Given the description of an element on the screen output the (x, y) to click on. 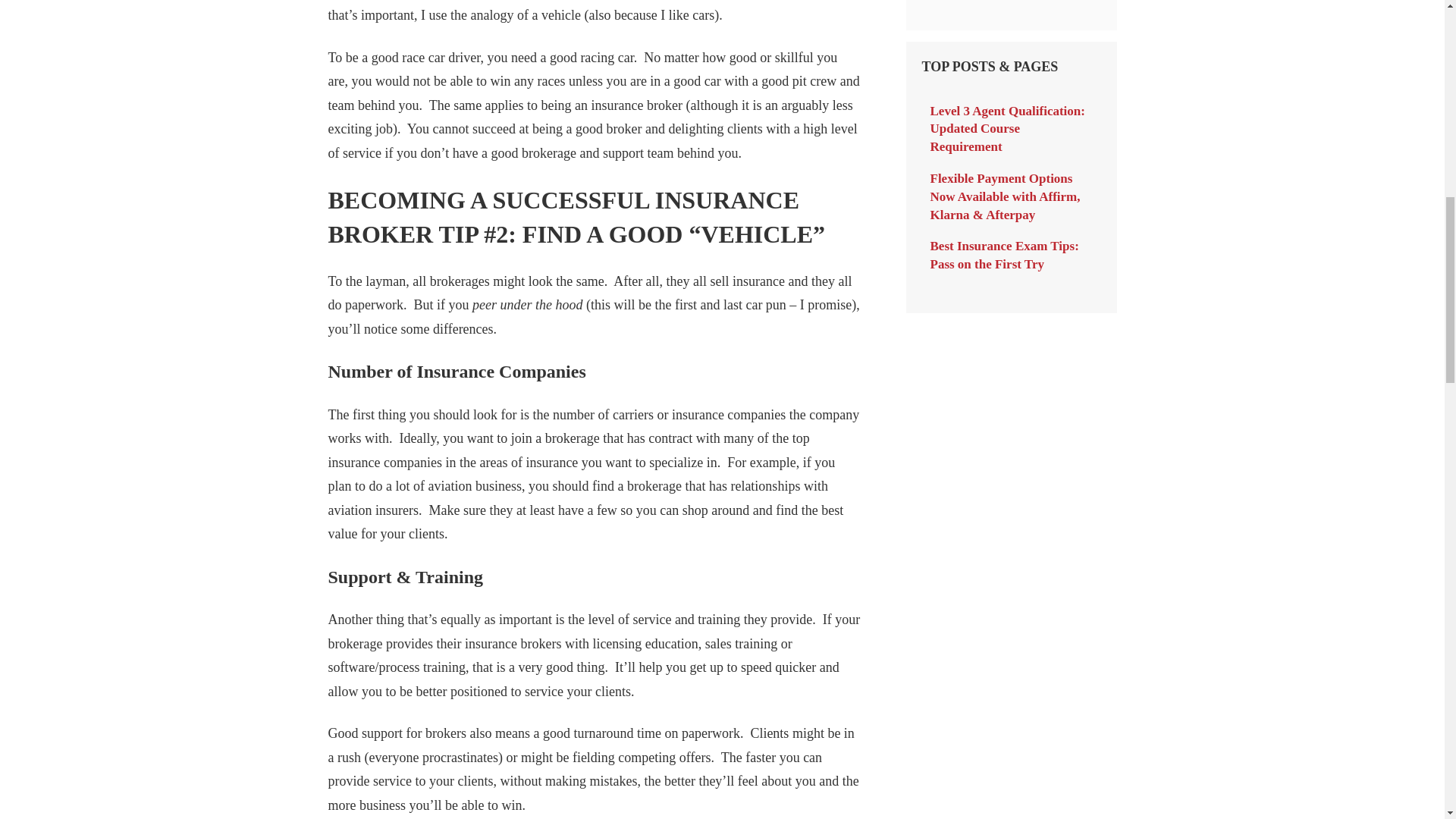
Level 3 Agent Qualification: Updated Course Requirement (1007, 129)
Best Insurance Exam Tips: Pass on the First Try (1004, 255)
Best Insurance Exam Tips: Pass on the First Try (1004, 255)
Level 3 Agent Qualification: Updated Course Requirement (1007, 129)
